Given the description of an element on the screen output the (x, y) to click on. 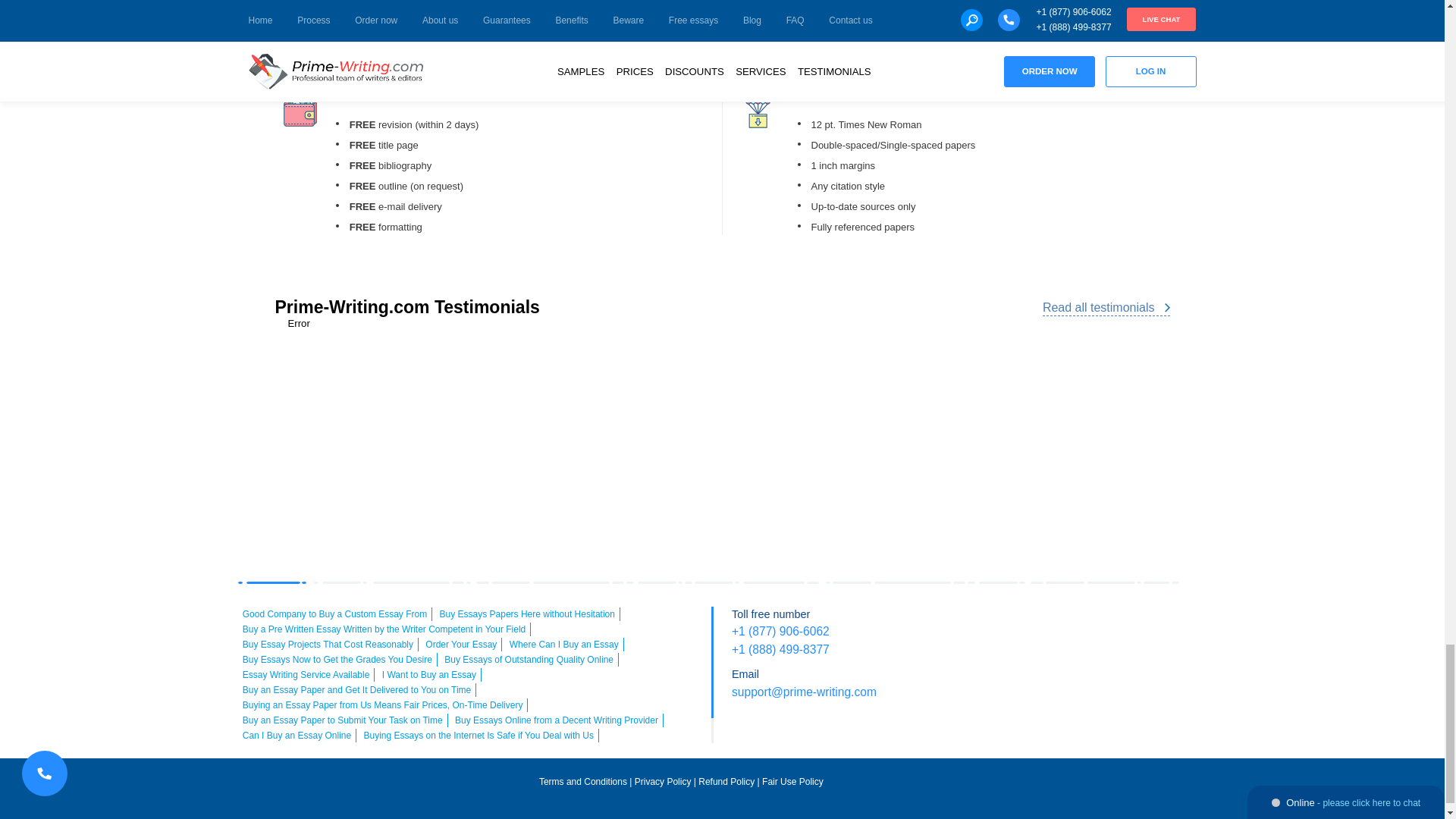
prime-writing.com (342, 787)
Credit cards by JCB (1112, 653)
Credit cards by Diners Club (1069, 653)
prime-writing.com (680, 812)
Credit cards by Discover (1176, 623)
Credit cards by American Express (1091, 623)
Apple pay (1133, 623)
Credit and debit cards by MasterCard (1048, 623)
Credit and debit cards by Visa (1005, 623)
prime-writing.com (1050, 786)
